Given the description of an element on the screen output the (x, y) to click on. 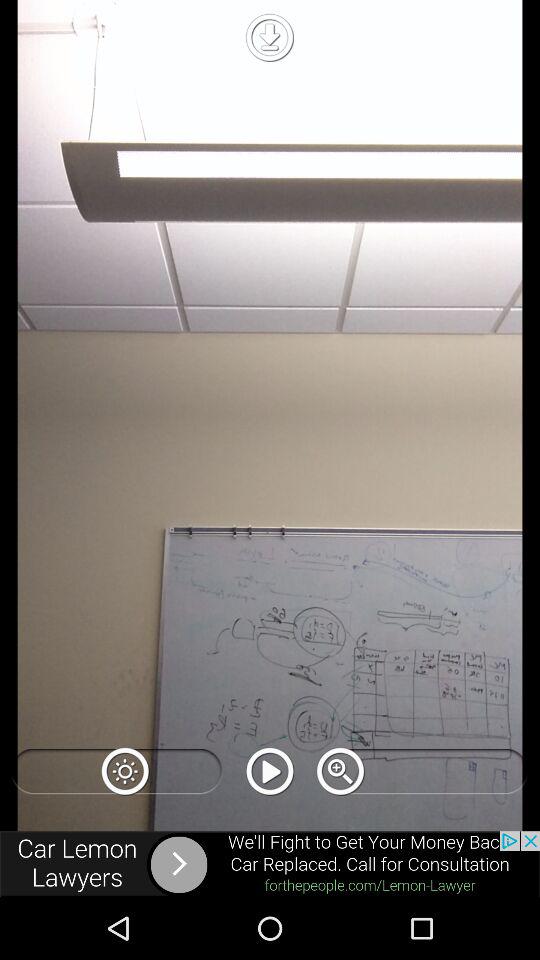
play button (269, 771)
